Given the description of an element on the screen output the (x, y) to click on. 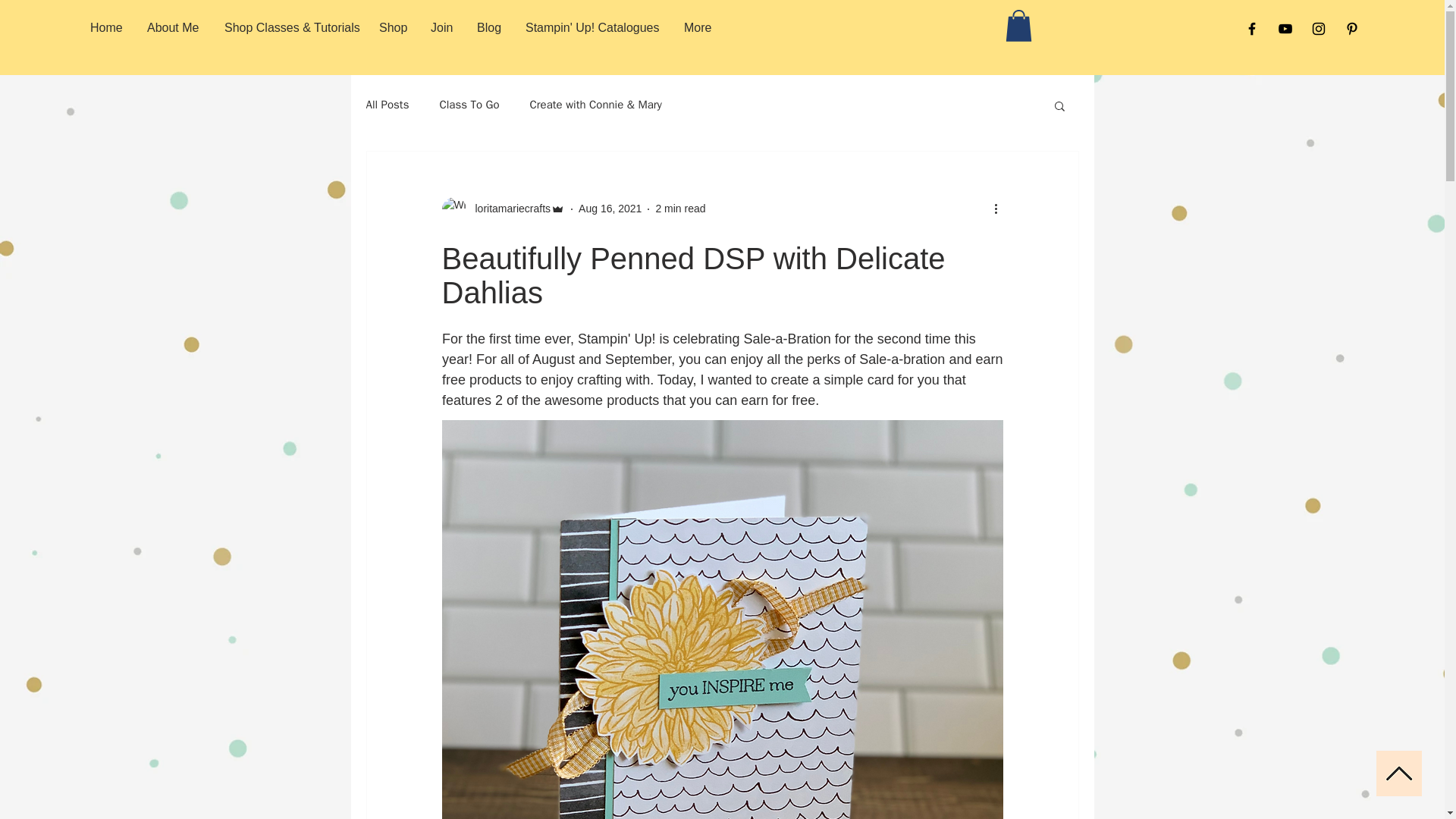
All Posts (387, 104)
Class To Go (469, 104)
Home (106, 27)
Stampin' Up! Catalogues (592, 27)
loritamariecrafts (502, 209)
Join (442, 27)
About Me (173, 27)
Shop (393, 27)
Aug 16, 2021 (610, 208)
loritamariecrafts (507, 208)
